Given the description of an element on the screen output the (x, y) to click on. 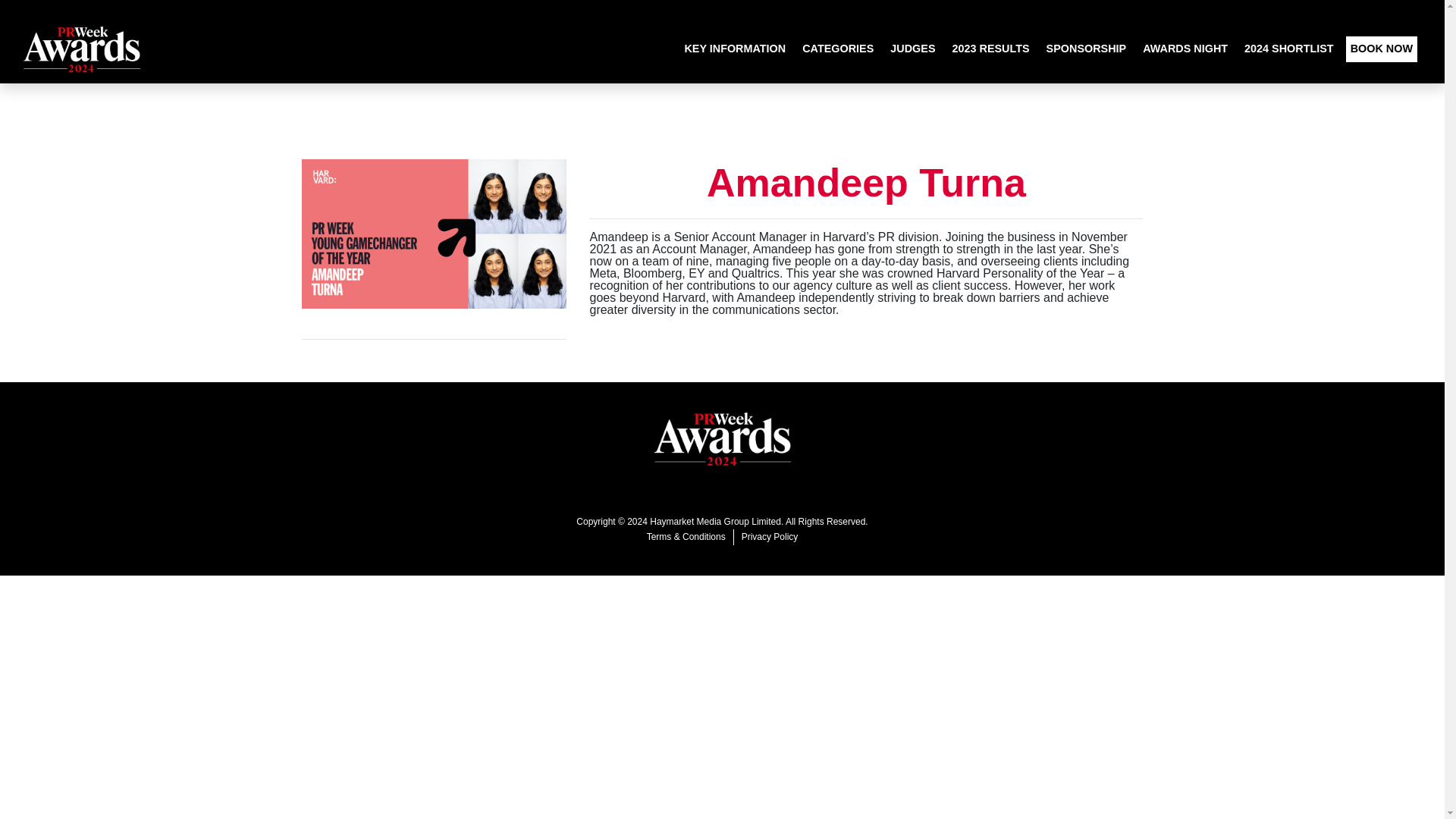
SPONSORSHIP (1086, 49)
CATEGORIES (837, 49)
AWARDS NIGHT (1184, 49)
BOOK NOW (1380, 49)
BOOK NOW (1380, 49)
SPONSORSHIP (1086, 49)
KEY INFORMATION (734, 49)
Privacy Policy (769, 536)
JUDGES (912, 49)
JUDGES (912, 49)
